Given the description of an element on the screen output the (x, y) to click on. 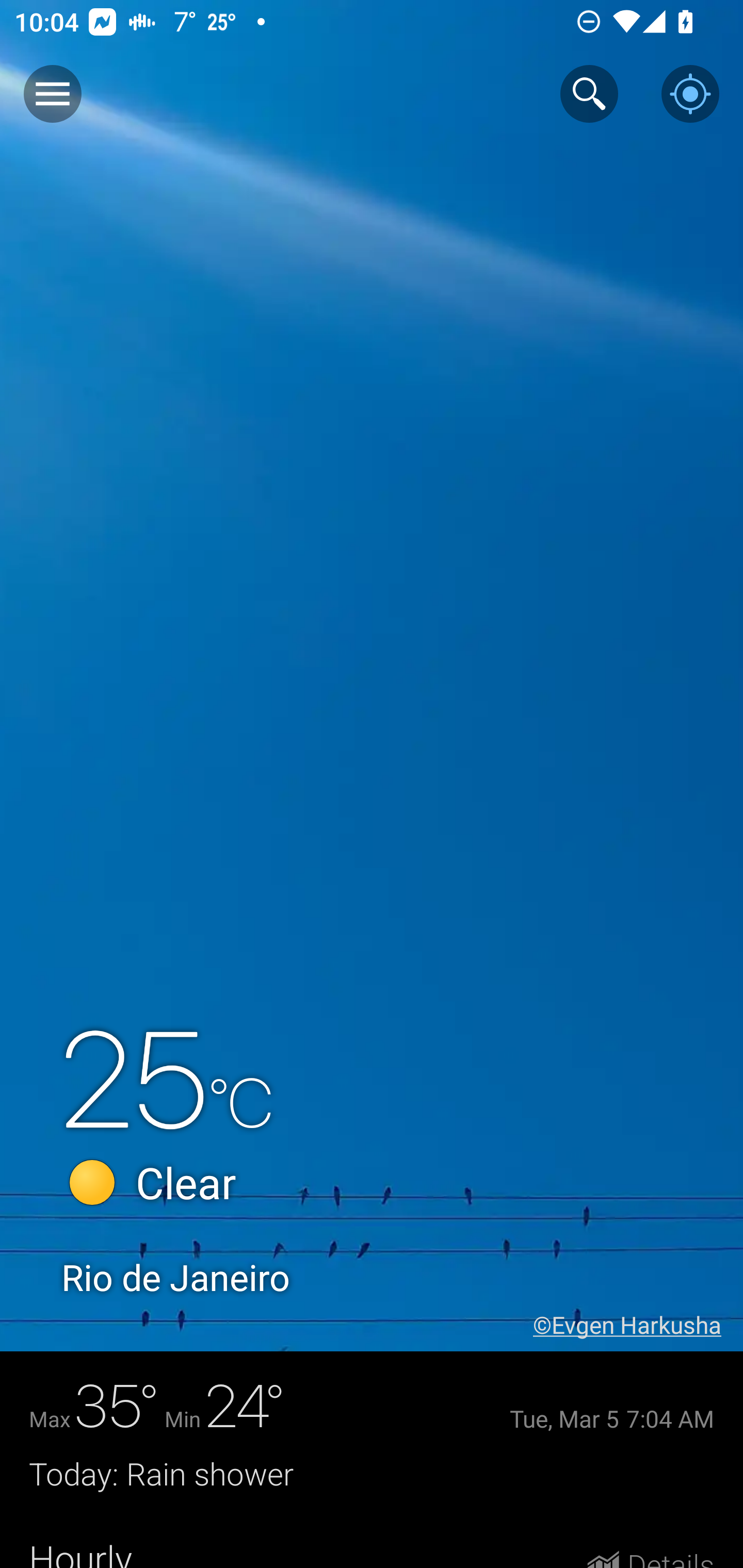
©Evgen Harkusha (637, 1324)
